Given the description of an element on the screen output the (x, y) to click on. 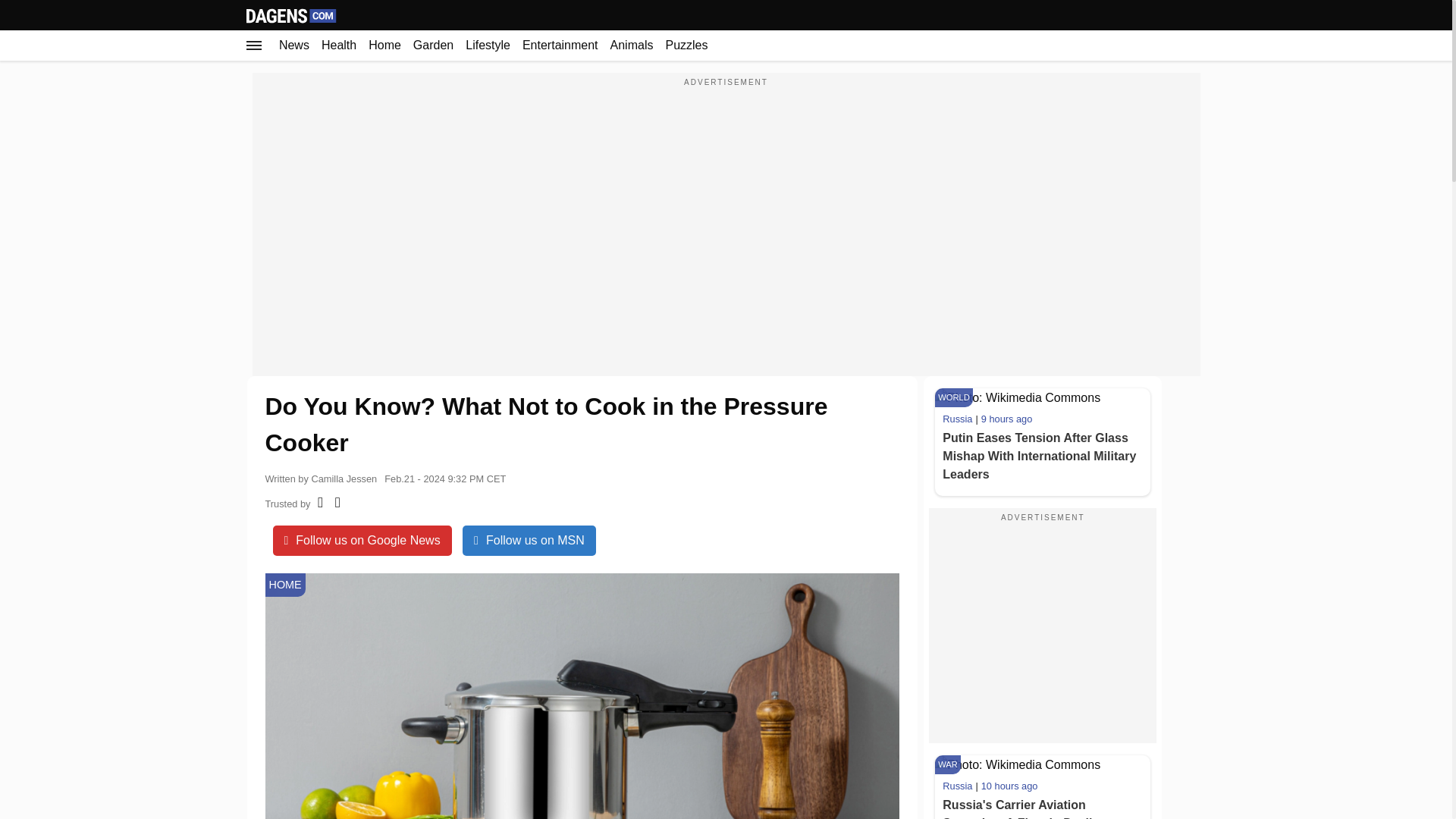
Follow us on Google News (362, 540)
HOME (284, 585)
Puzzles (686, 45)
Lifestyle (488, 45)
Entertainment (560, 45)
Garden (433, 45)
Follow us on MSN (529, 540)
Animals (631, 45)
Written by Camilla Jessen (320, 476)
Health (338, 45)
Home (384, 45)
News (294, 45)
